Given the description of an element on the screen output the (x, y) to click on. 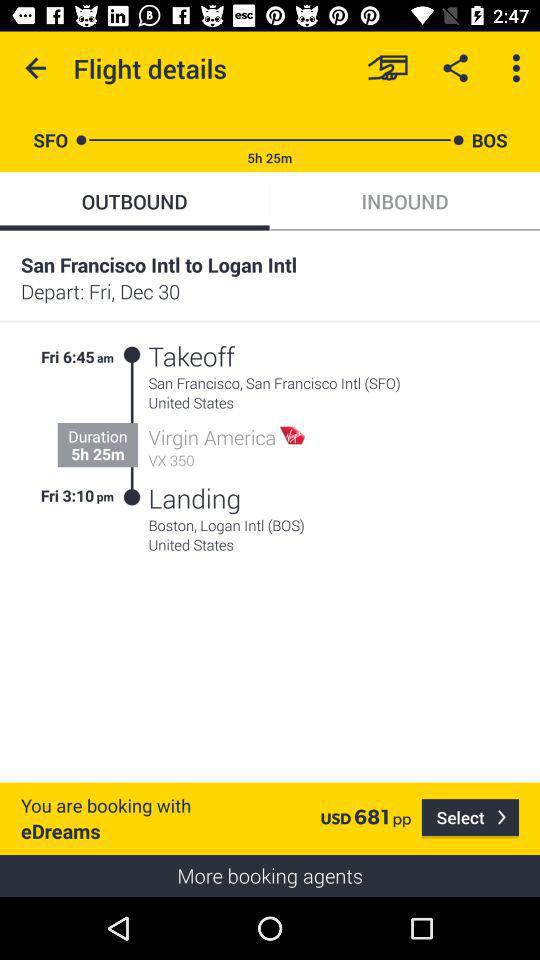
choose the item above sfo item (36, 68)
